Given the description of an element on the screen output the (x, y) to click on. 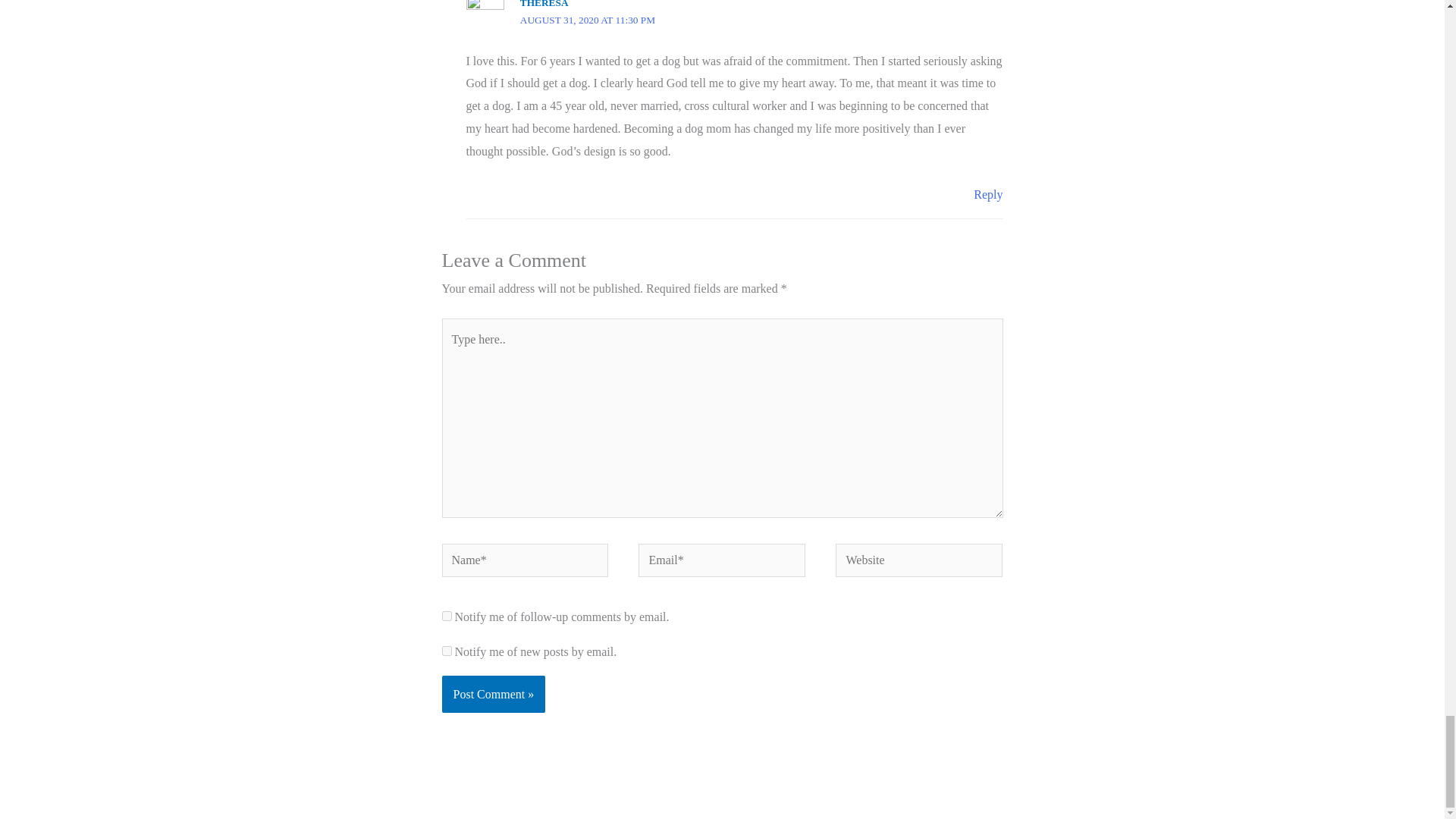
AUGUST 31, 2020 AT 11:30 PM (587, 19)
subscribe (446, 651)
subscribe (446, 615)
Reply (988, 194)
